Given the description of an element on the screen output the (x, y) to click on. 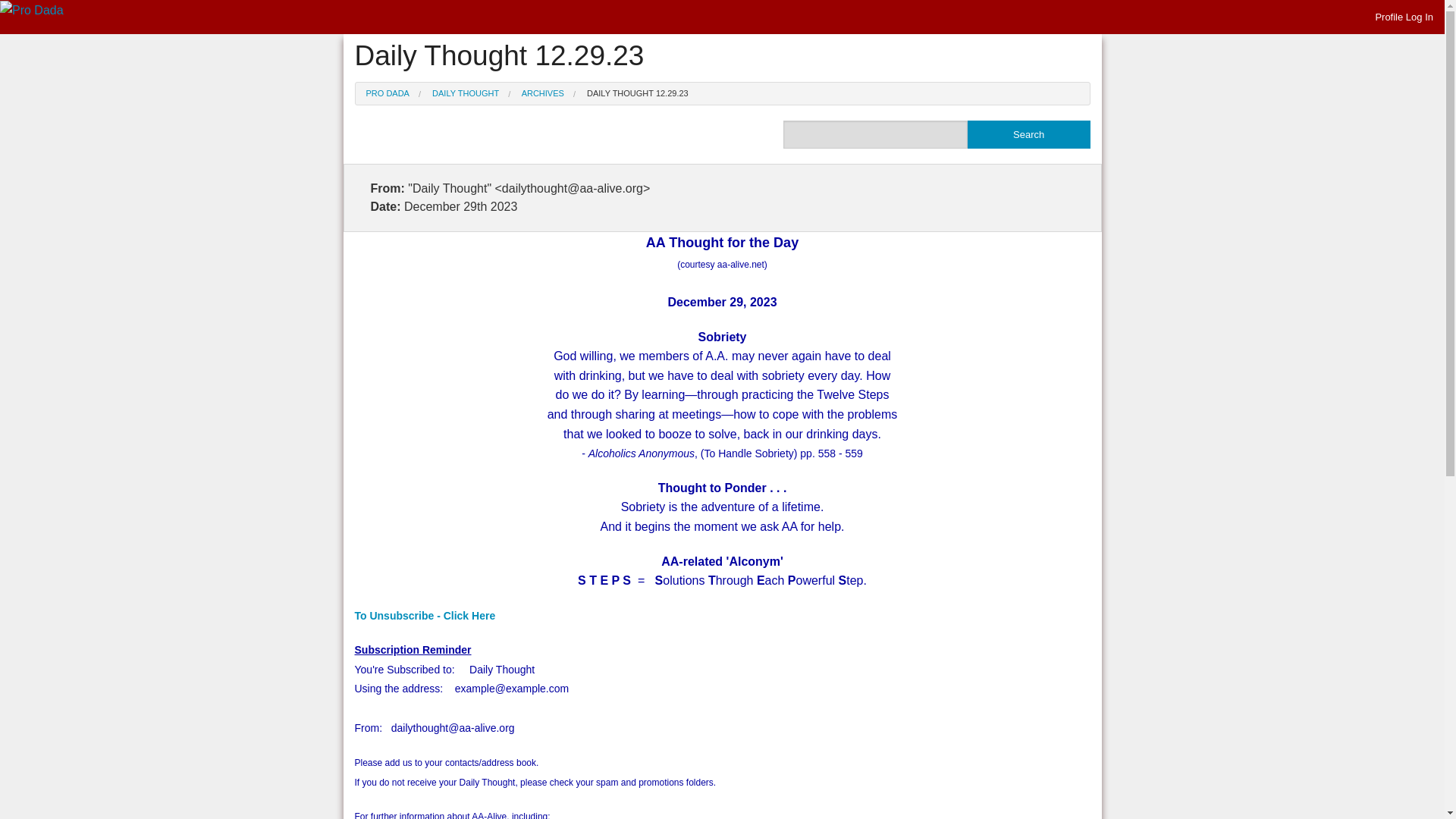
Search (1029, 134)
To Unsubscribe - Click Here (425, 615)
DAILY THOUGHT 12.29.23 (637, 92)
Search (1029, 134)
ARCHIVES (542, 92)
PRO DADA (387, 92)
DAILY THOUGHT (465, 92)
Pro Dada (32, 10)
